Given the description of an element on the screen output the (x, y) to click on. 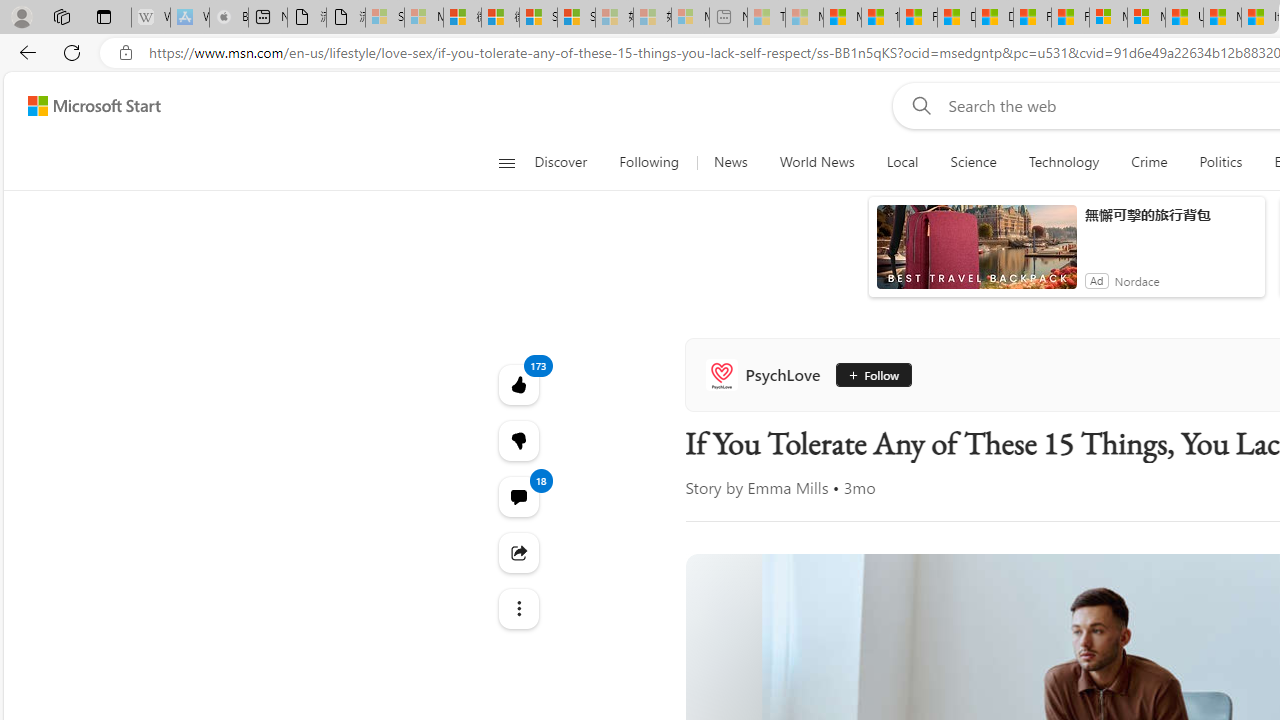
World News (817, 162)
173 Like (517, 384)
Share this story (517, 552)
